Given the description of an element on the screen output the (x, y) to click on. 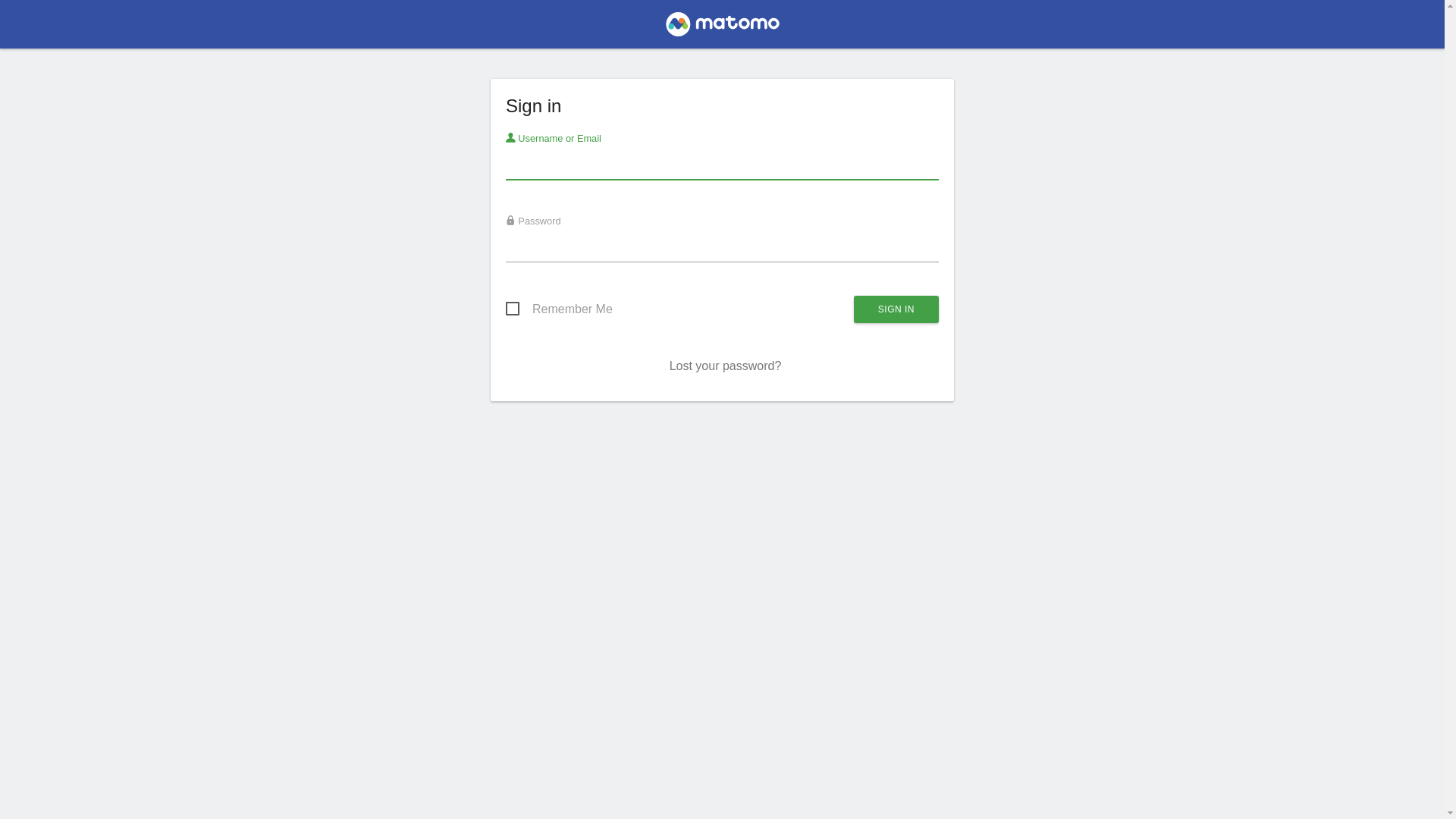
Matomo # free/libre analytics platform Element type: hover (722, 27)
Lost your password? Element type: text (725, 365)
Sign in Element type: text (895, 309)
